Given the description of an element on the screen output the (x, y) to click on. 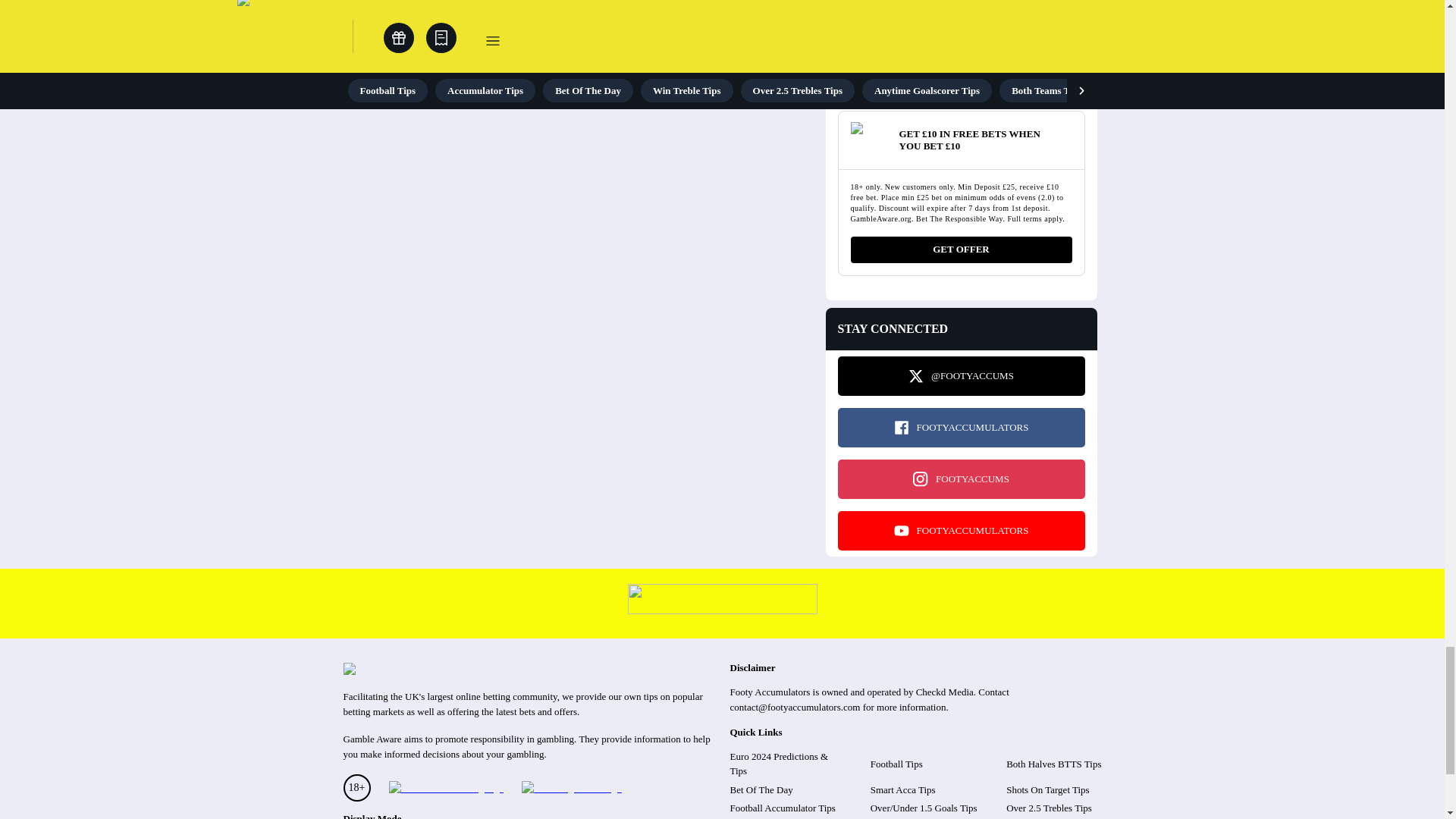
Be gamble aware campaign (445, 788)
Take time to think campaign link (721, 609)
YouTube Logo (900, 530)
GamblingCare.ie (571, 788)
Facebook Logo (900, 427)
